Given the description of an element on the screen output the (x, y) to click on. 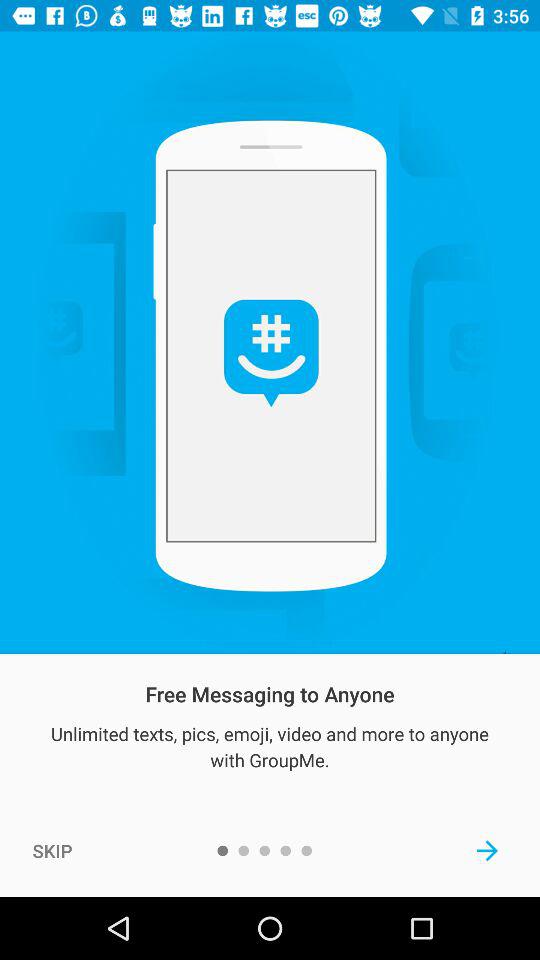
launch the item at the bottom right corner (487, 850)
